Given the description of an element on the screen output the (x, y) to click on. 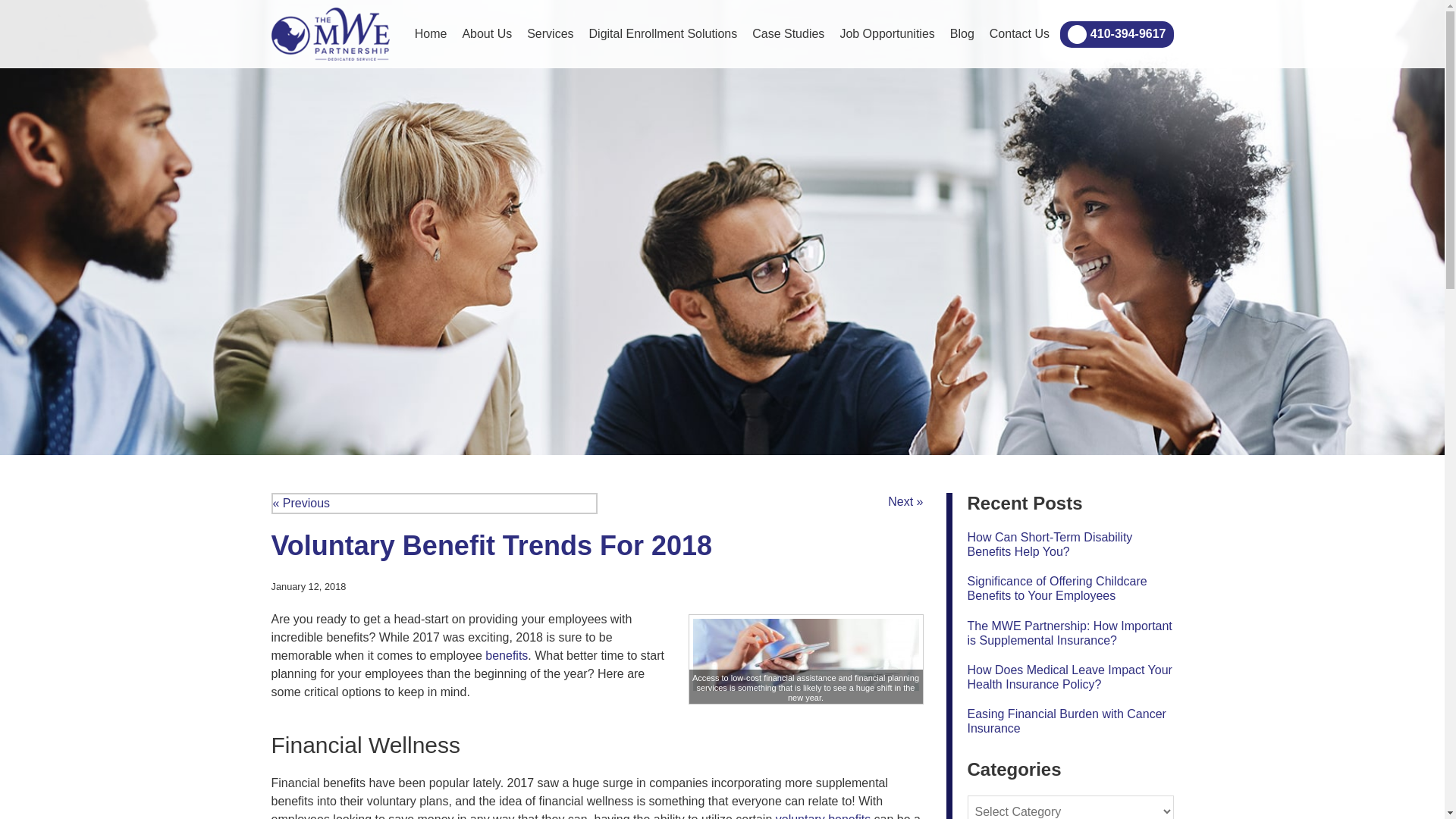
Digital Enrollment Solutions (662, 34)
voluntary benefits (823, 816)
How Can Short-Term Disability Benefits Help You? (1050, 543)
About Us (486, 34)
Case Studies (787, 34)
The MWE Partnership (330, 33)
Services (549, 34)
Job Opportunities (886, 34)
Home (430, 34)
Contact Us (1019, 34)
benefits (505, 655)
Blog (961, 34)
